Given the description of an element on the screen output the (x, y) to click on. 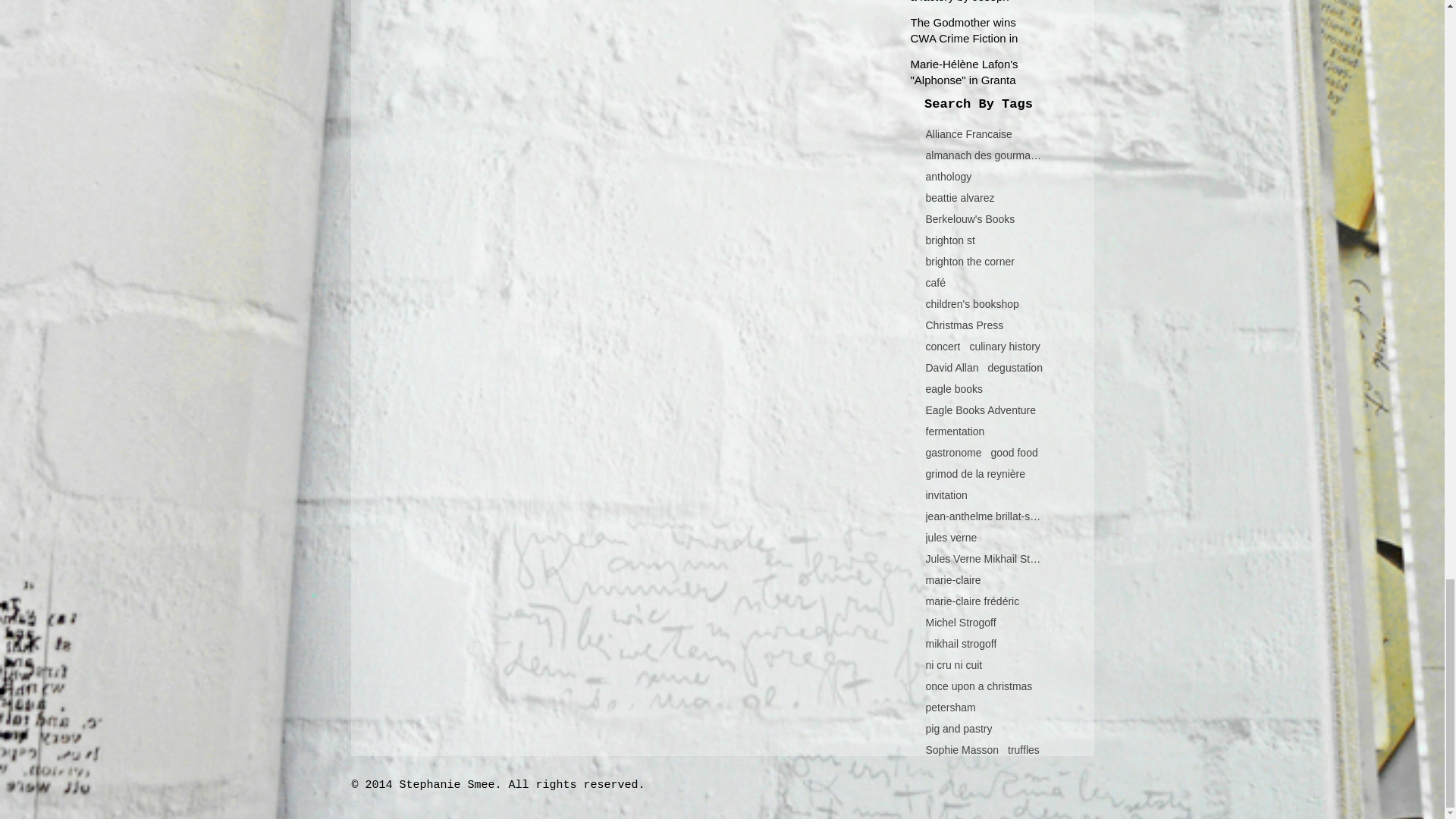
Alliance Francaise (967, 133)
children's bookshop (970, 304)
almanach des gourmands (983, 155)
David Allan (951, 367)
eagle books (953, 388)
fermentation (954, 431)
Christmas Press (963, 325)
beattie alvarez (959, 197)
concert (941, 346)
Berkelouw's Books (969, 218)
